Given the description of an element on the screen output the (x, y) to click on. 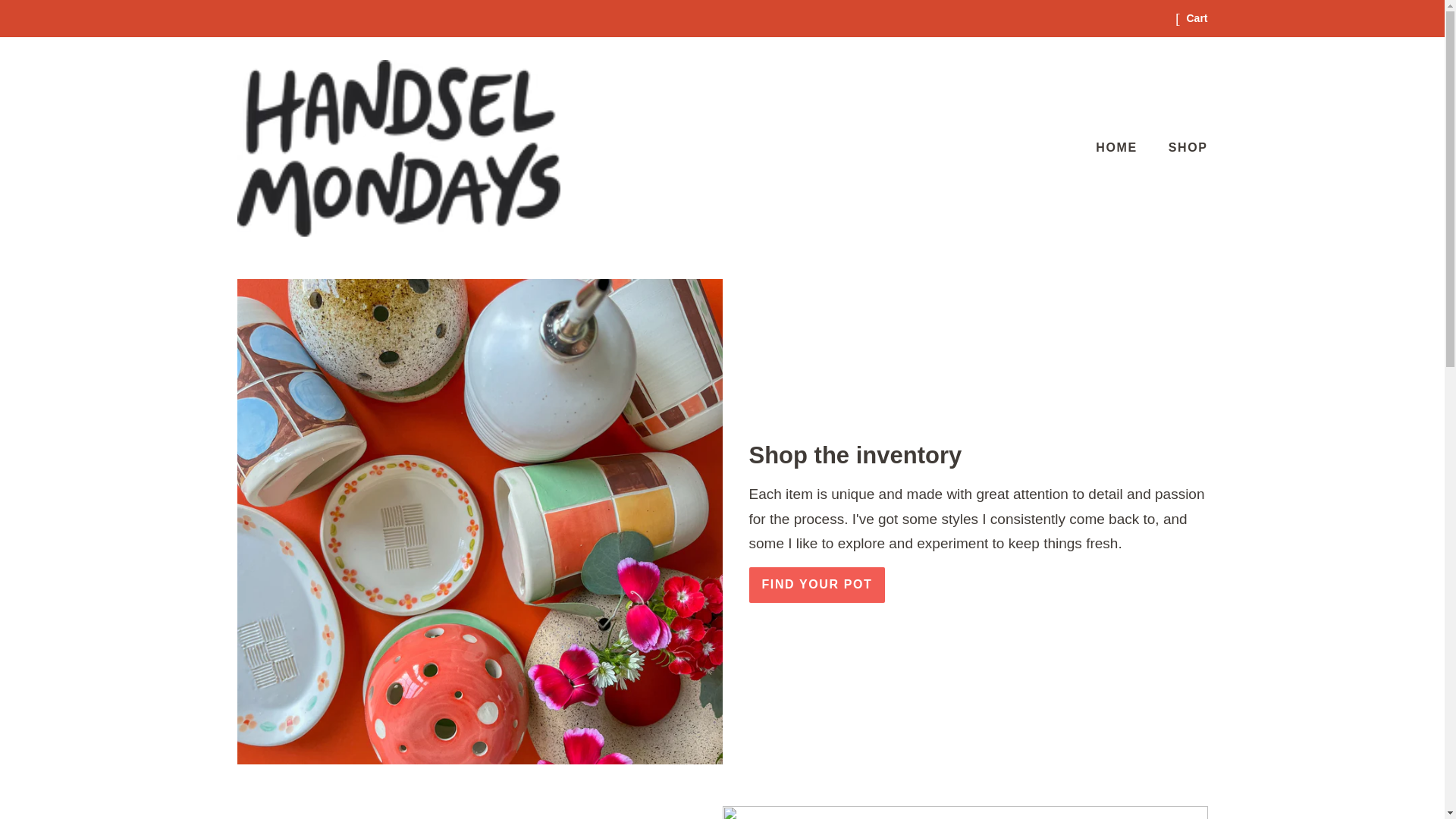
SHOP (1182, 146)
Cart (1196, 18)
FIND YOUR POT (817, 584)
HOME (1123, 146)
